Given the description of an element on the screen output the (x, y) to click on. 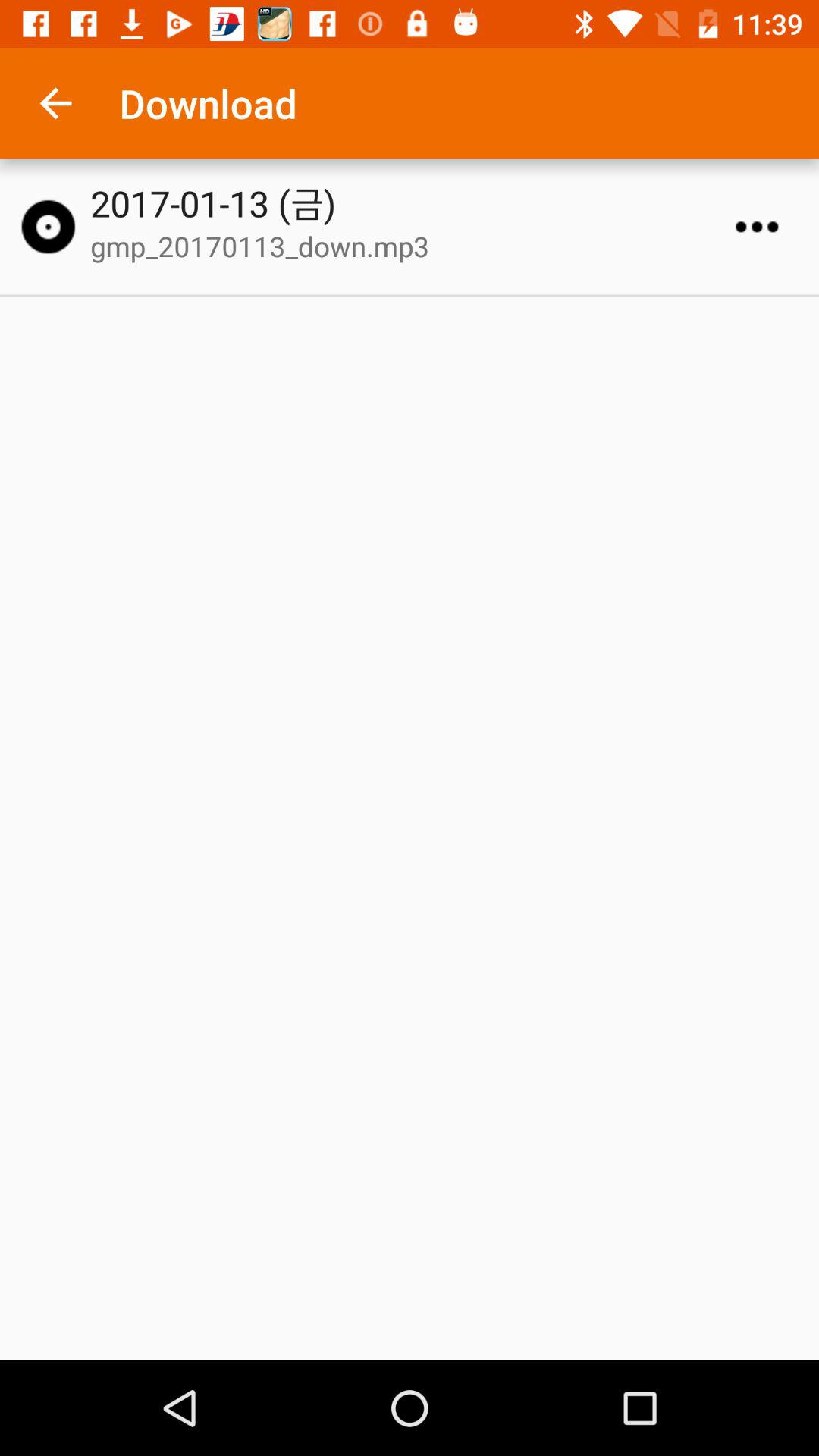
turn on icon next to the download icon (55, 103)
